Given the description of an element on the screen output the (x, y) to click on. 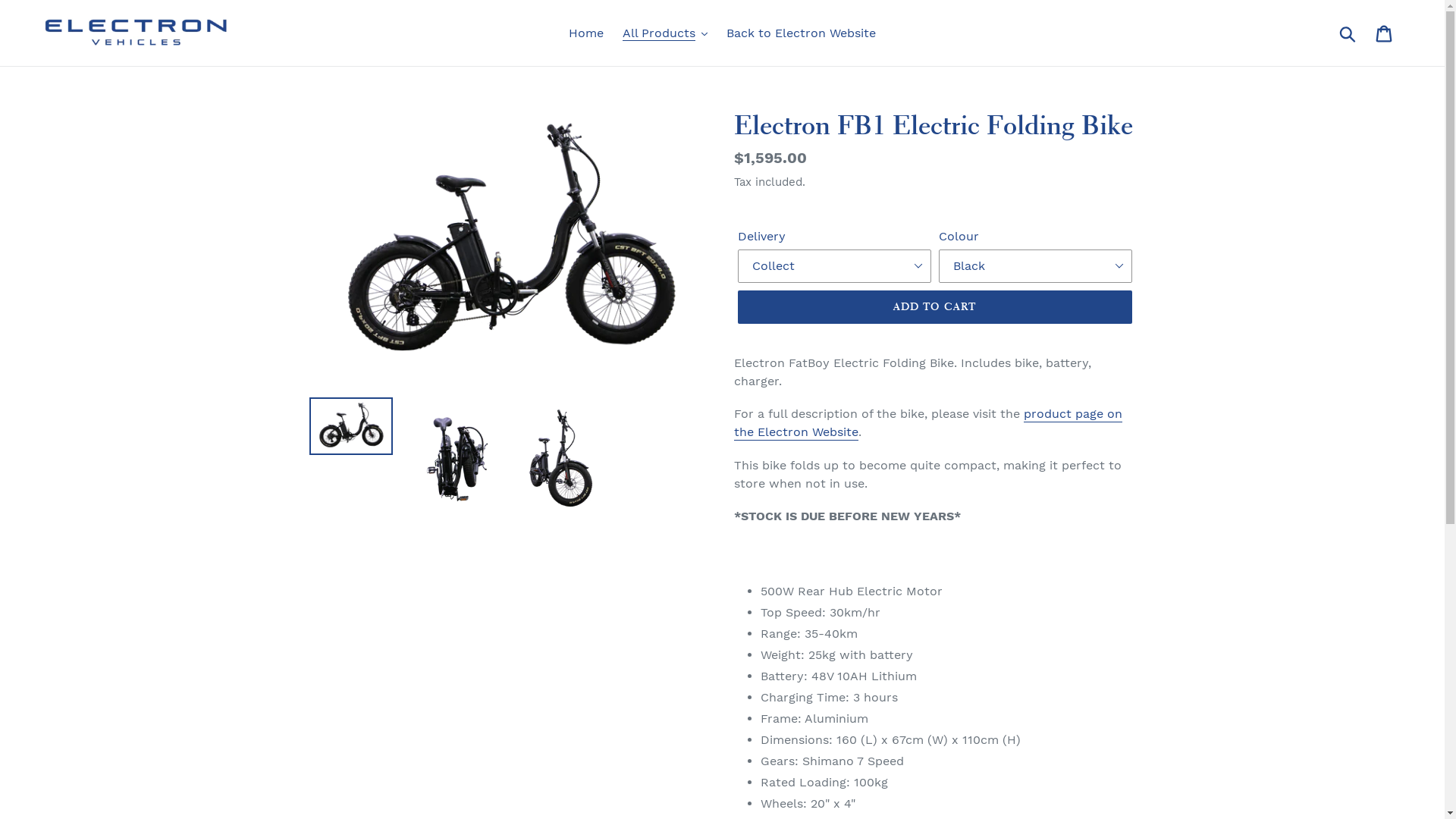
Submit Element type: text (1348, 33)
Back to Electron Website Element type: text (800, 32)
ADD TO CART Element type: text (934, 306)
Cart Element type: text (1384, 32)
product page on the Electron Website Element type: text (928, 423)
Home Element type: text (586, 32)
